Given the description of an element on the screen output the (x, y) to click on. 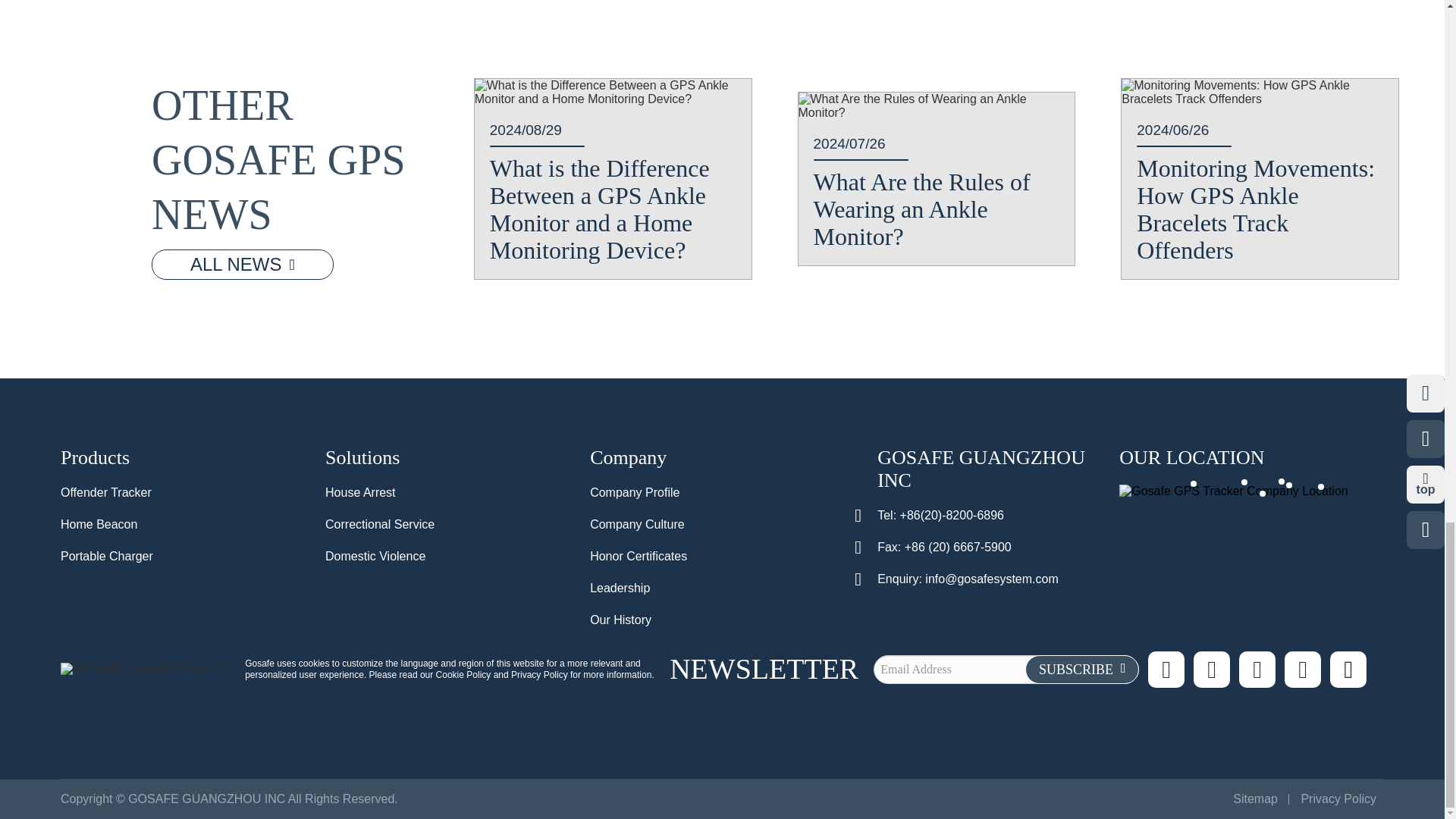
What Are the Rules of Wearing an Ankle Monitor? (935, 105)
